Given the description of an element on the screen output the (x, y) to click on. 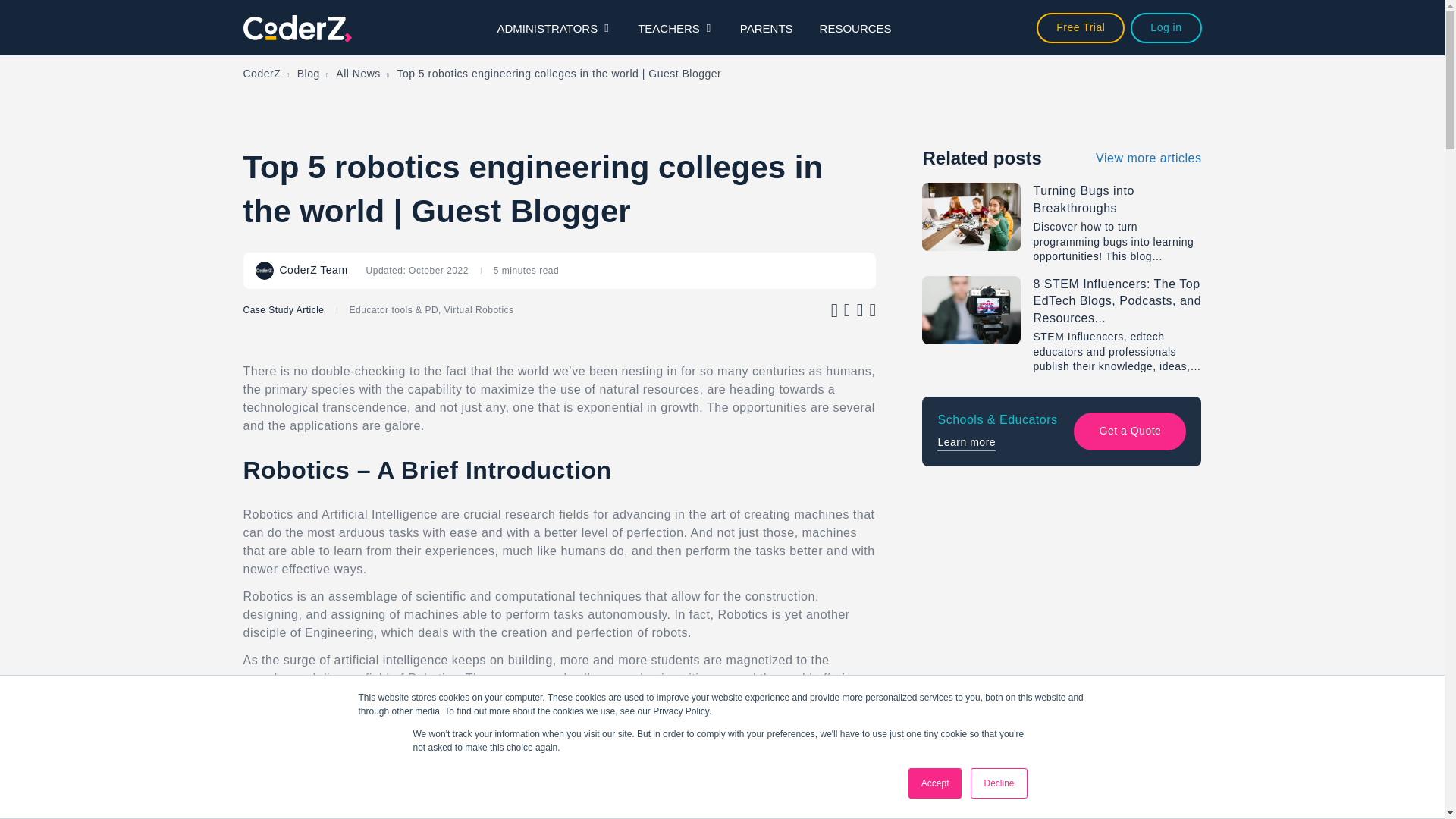
Log in (1166, 27)
Decline (998, 783)
ADMINISTRATORS (553, 27)
CoderZ (262, 73)
TEACHERS (675, 27)
Accept (935, 783)
Blog (308, 73)
Go to the All News category archives. (358, 73)
PARENTS (766, 27)
All News (358, 73)
